Given the description of an element on the screen output the (x, y) to click on. 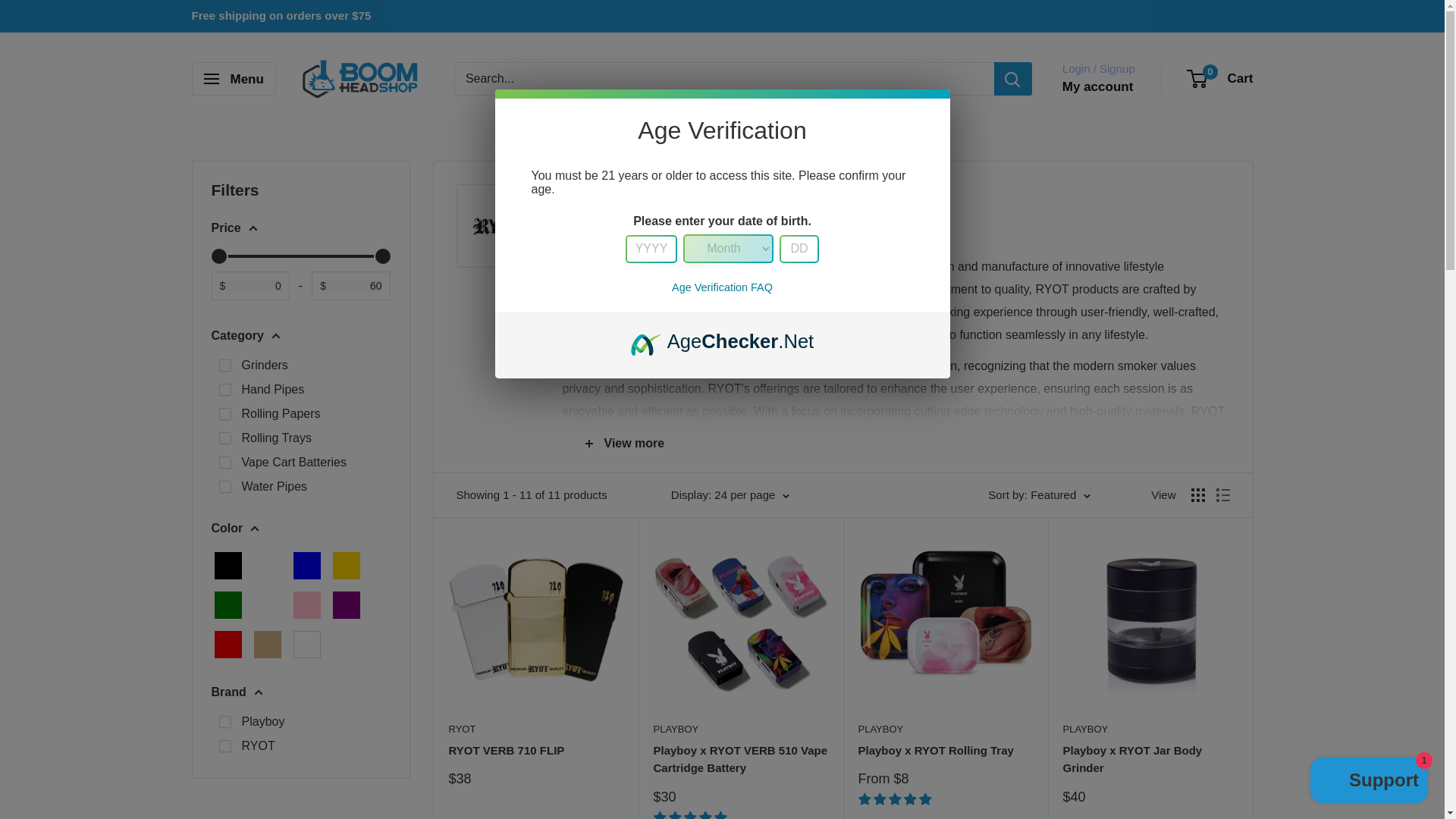
Rolling Papers (224, 413)
Shopify online store chat (1369, 781)
Playboy (224, 721)
Vape Cart Batteries (224, 462)
Hand Pipes (224, 389)
Water Pipes (224, 486)
0 (300, 255)
RYOT (224, 746)
60 (300, 255)
Grinders (224, 365)
Rolling Trays (224, 438)
